Given the description of an element on the screen output the (x, y) to click on. 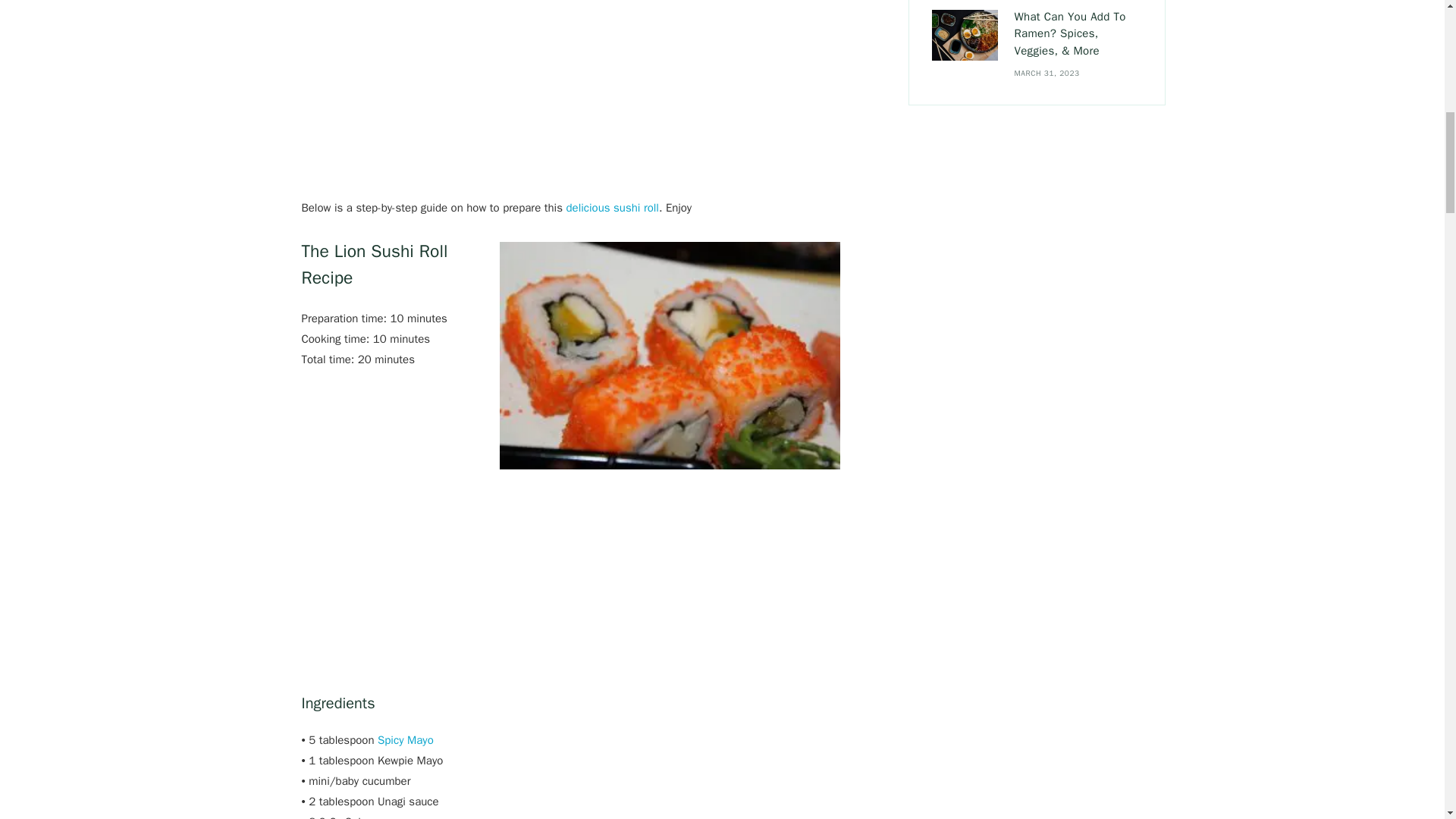
delicious sushi roll (612, 206)
tobiko, tobiko caviar (669, 355)
